Given the description of an element on the screen output the (x, y) to click on. 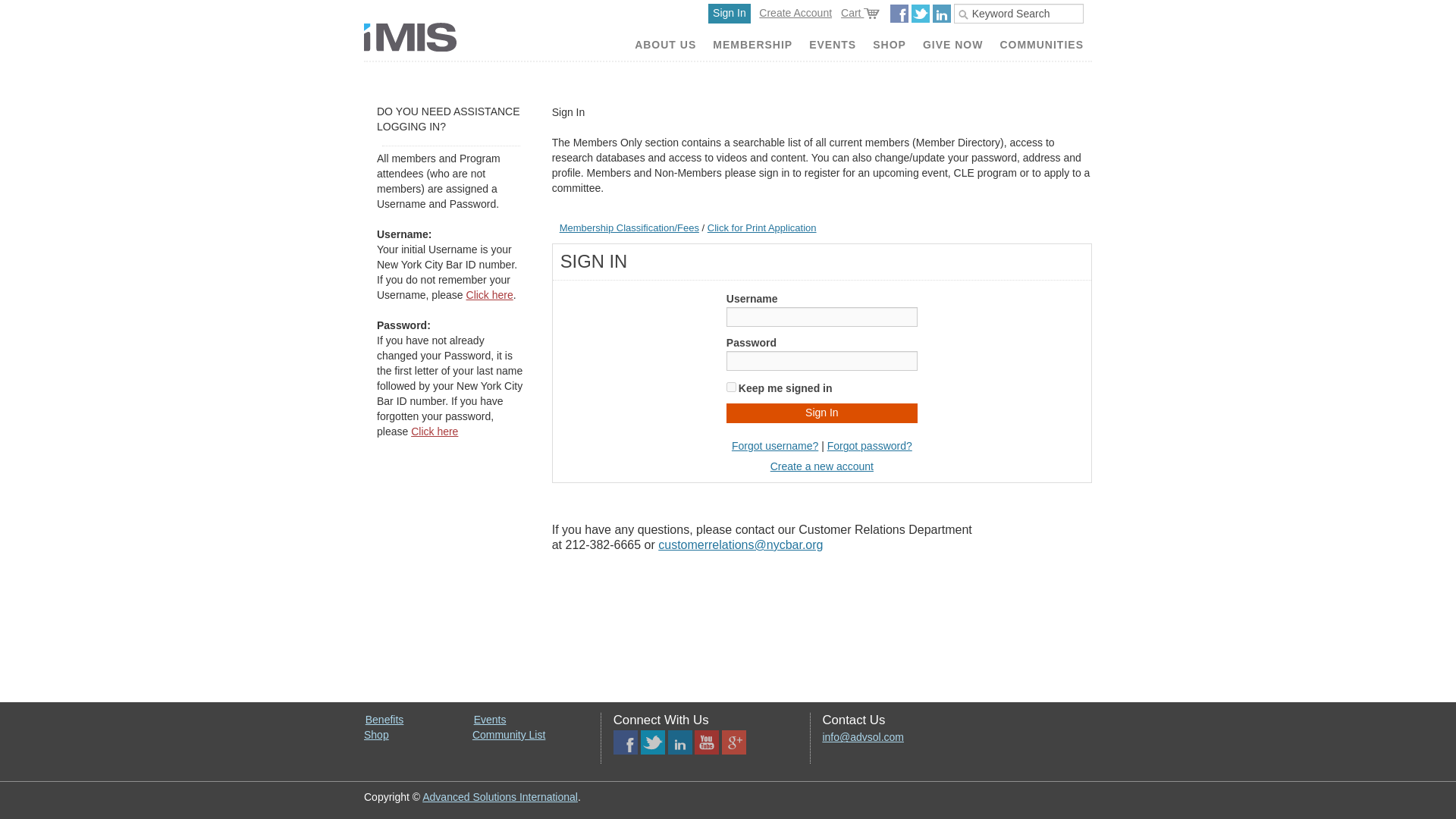
Events (490, 719)
Home (410, 36)
Click here (434, 431)
Sign In (821, 413)
Create Account (794, 12)
Visit our Facebook page (624, 736)
Forgot username? (775, 445)
Forgot password? (869, 445)
GIVE NOW (952, 45)
ABOUT US (665, 45)
